Given the description of an element on the screen output the (x, y) to click on. 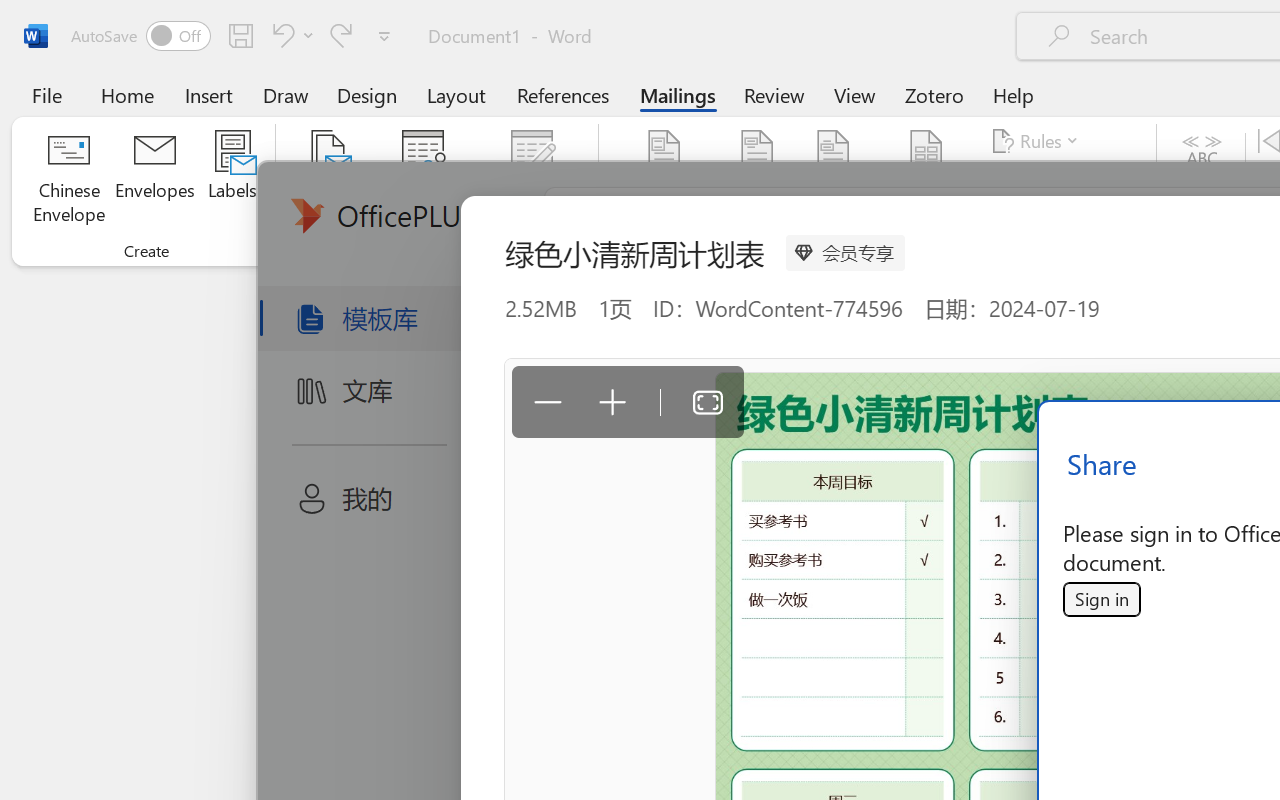
Select Recipients (423, 179)
Edit Recipient List... (532, 179)
Undo Apply Quick Style Set (280, 35)
Greeting Line... (833, 179)
Start Mail Merge (328, 179)
Insert Merge Field (927, 151)
Sign in (1101, 599)
